Given the description of an element on the screen output the (x, y) to click on. 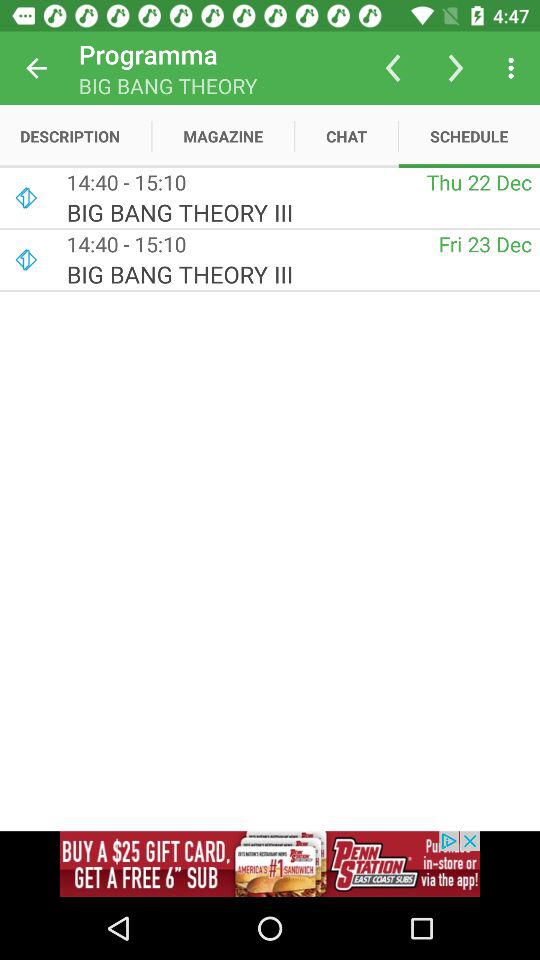
advertisement (270, 864)
